Given the description of an element on the screen output the (x, y) to click on. 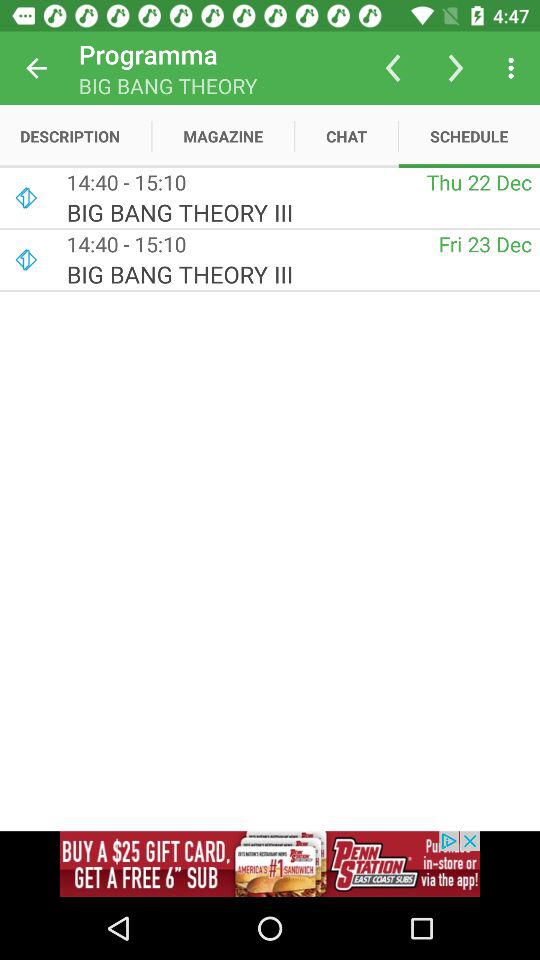
advertisement (270, 864)
